Given the description of an element on the screen output the (x, y) to click on. 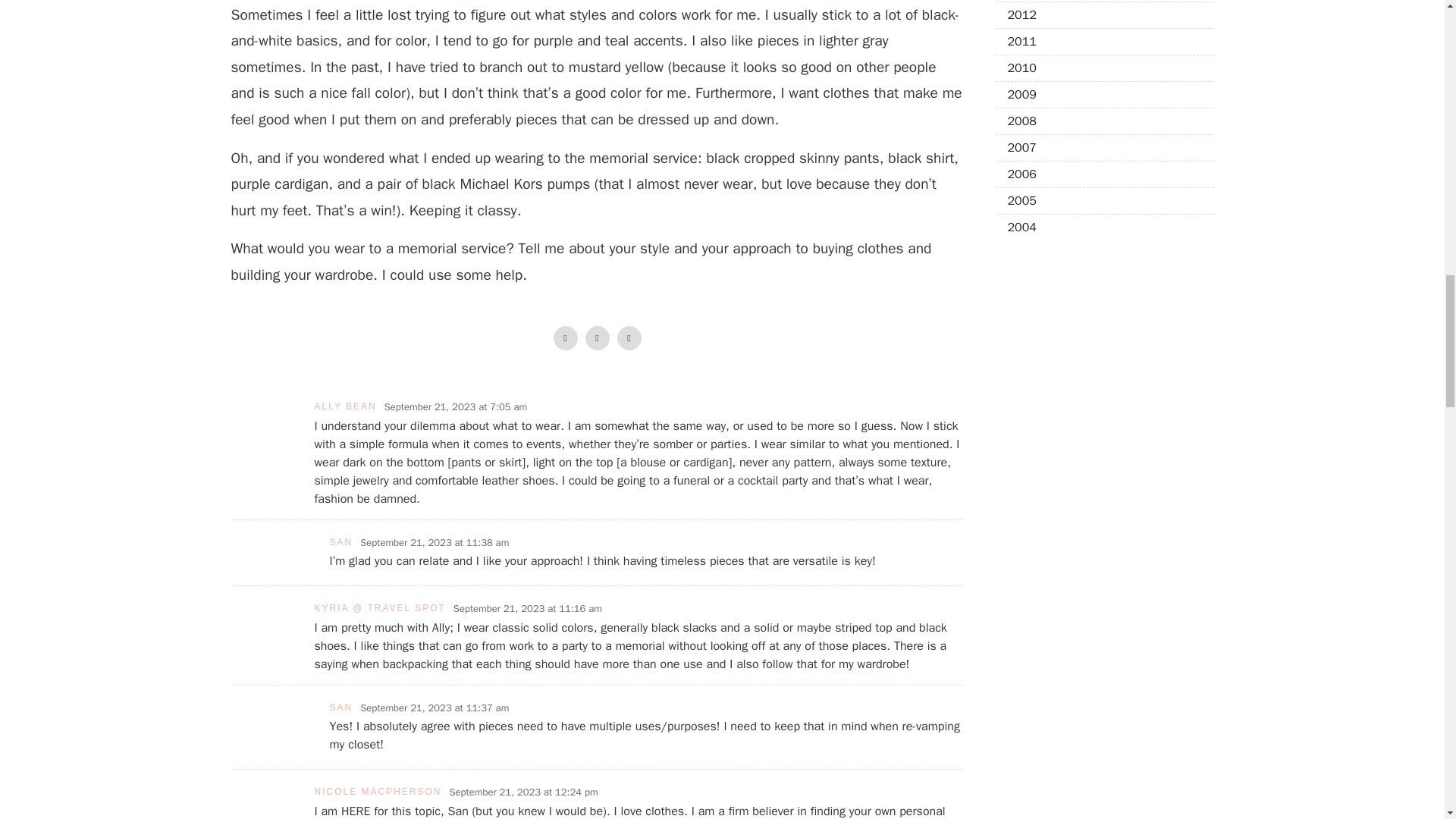
September 21, 2023 at 11:38 am (433, 542)
September 21, 2023 at 7:05 am (455, 406)
September 21, 2023 at 11:16 am (527, 608)
SAN (340, 542)
September 21, 2023 at 11:37 am (433, 708)
September 21, 2023 at 12:24 pm (523, 792)
NICOLE MACPHERSON (377, 791)
ALLY BEAN (344, 406)
SAN (340, 706)
